Given the description of an element on the screen output the (x, y) to click on. 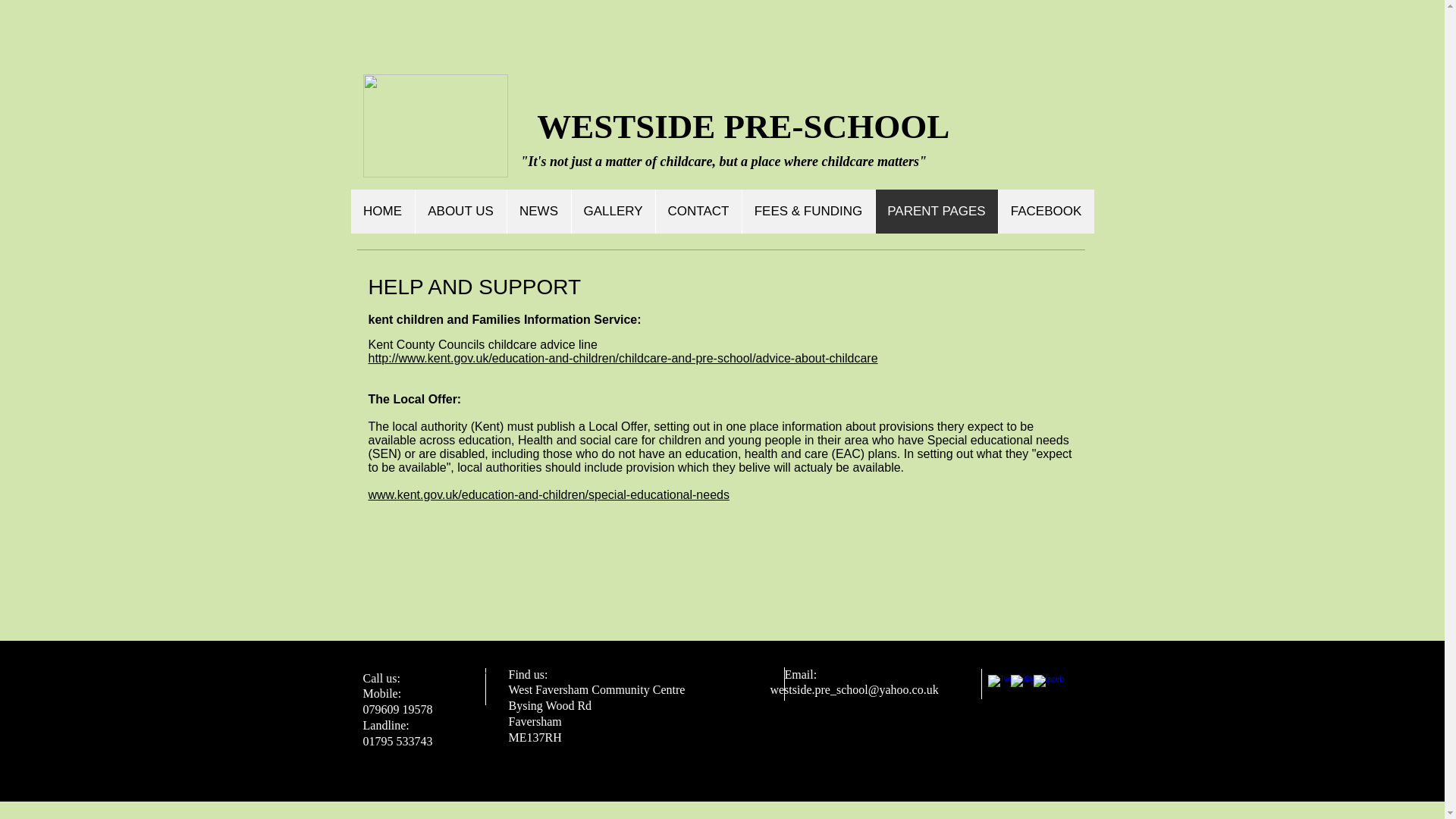
FACEBOOK (1045, 211)
ABOUT US (459, 211)
PARENT PAGES (936, 211)
GALLERY (611, 211)
NEWS (538, 211)
CONTACT (698, 211)
HOME (381, 211)
